Given the description of an element on the screen output the (x, y) to click on. 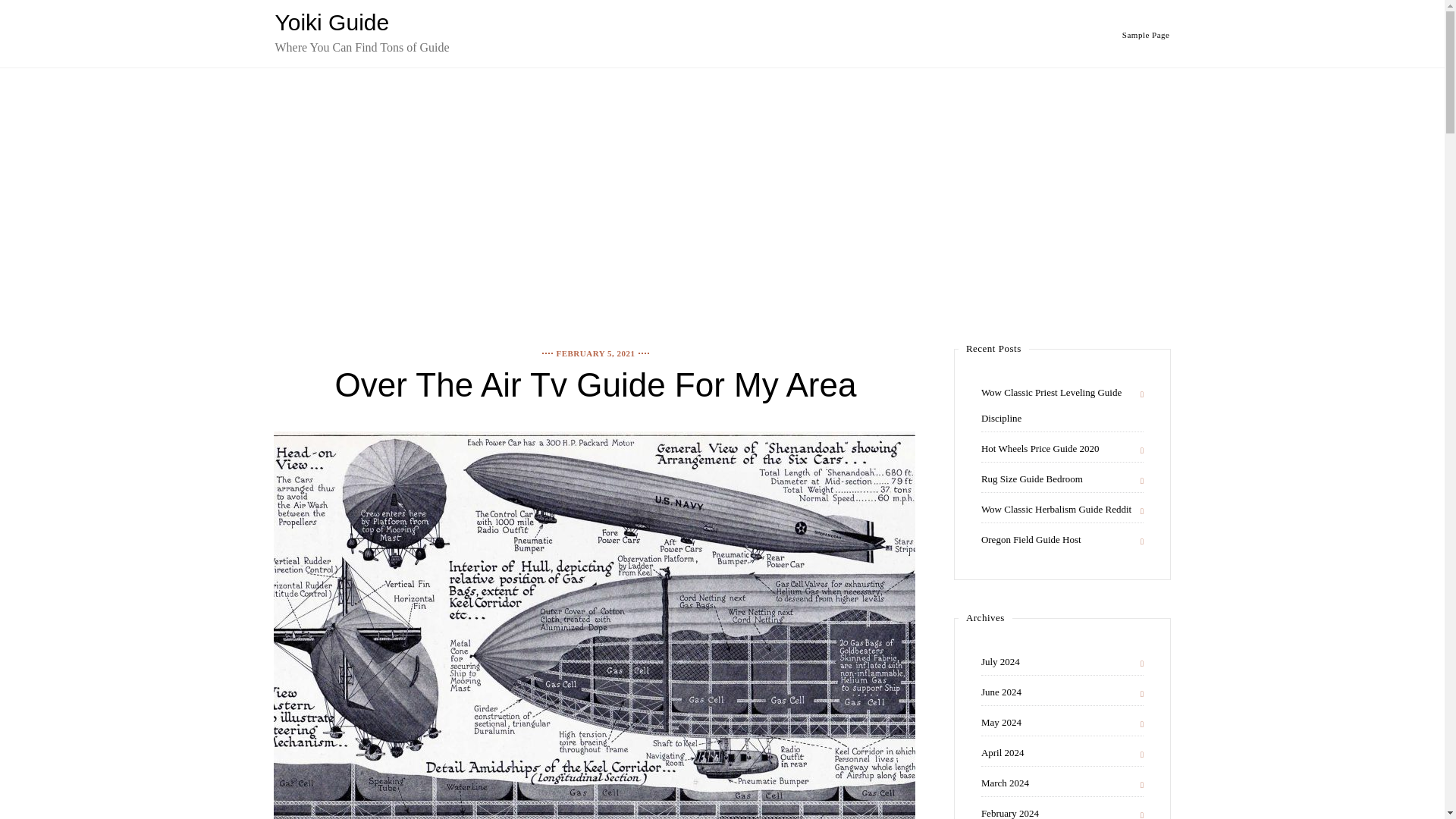
Sample Page (1146, 34)
Yoiki Guide (331, 22)
Wow Classic Priest Leveling Guide Discipline (1061, 405)
